Given the description of an element on the screen output the (x, y) to click on. 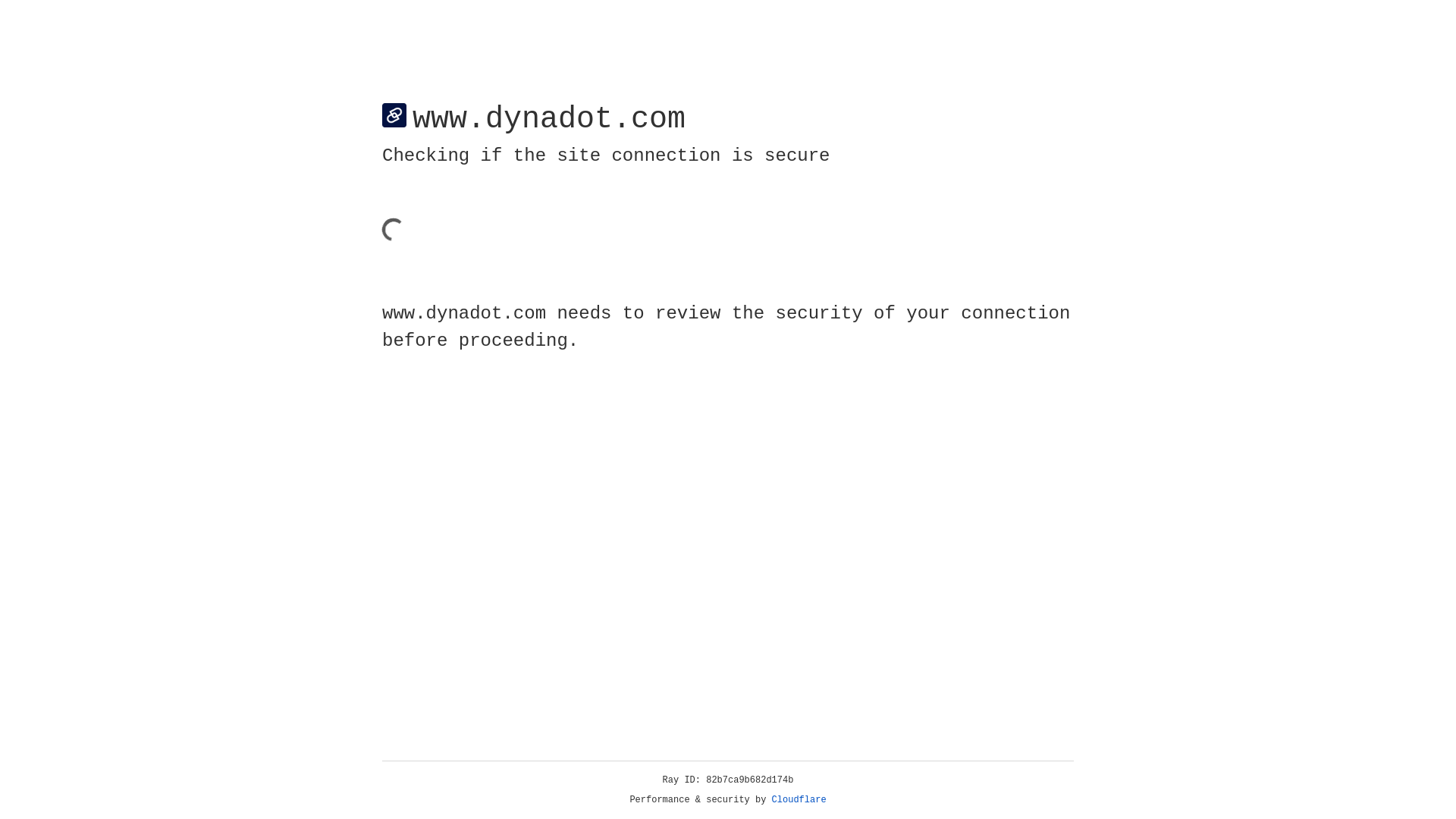
Cloudflare Element type: text (798, 799)
